Given the description of an element on the screen output the (x, y) to click on. 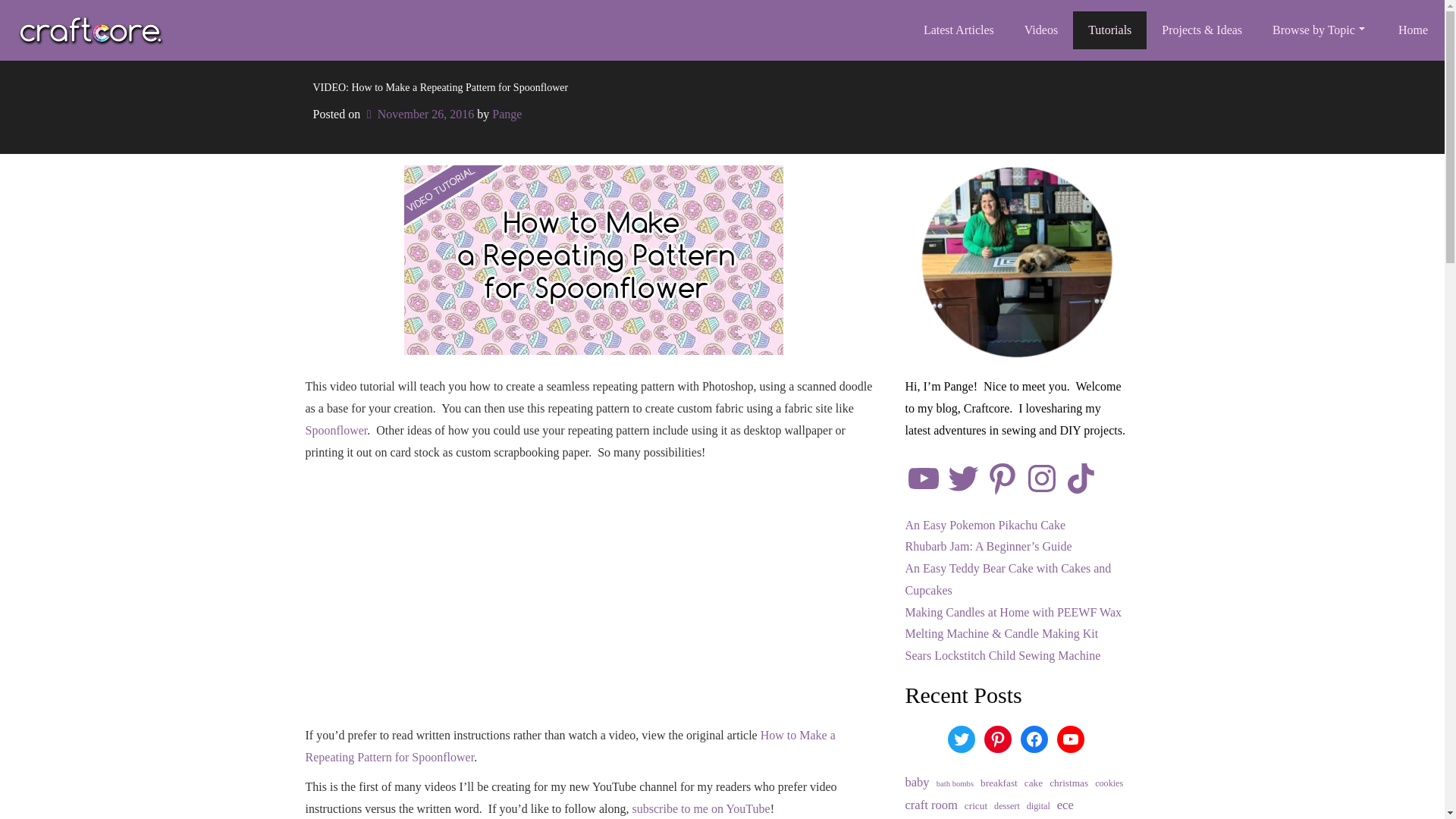
Home (1412, 30)
How to Make a Repeating Pattern for Spoonflower (569, 745)
YouTube (923, 477)
subscribe to me on YouTube (700, 808)
Pange (506, 113)
Spoonflower (335, 430)
Twitter (962, 477)
Tutorials (1110, 30)
Latest Articles (958, 30)
November 26, 2016 (418, 113)
Videos (1041, 30)
Browse by Topic (1320, 30)
Pinterest (1002, 477)
